Given the description of an element on the screen output the (x, y) to click on. 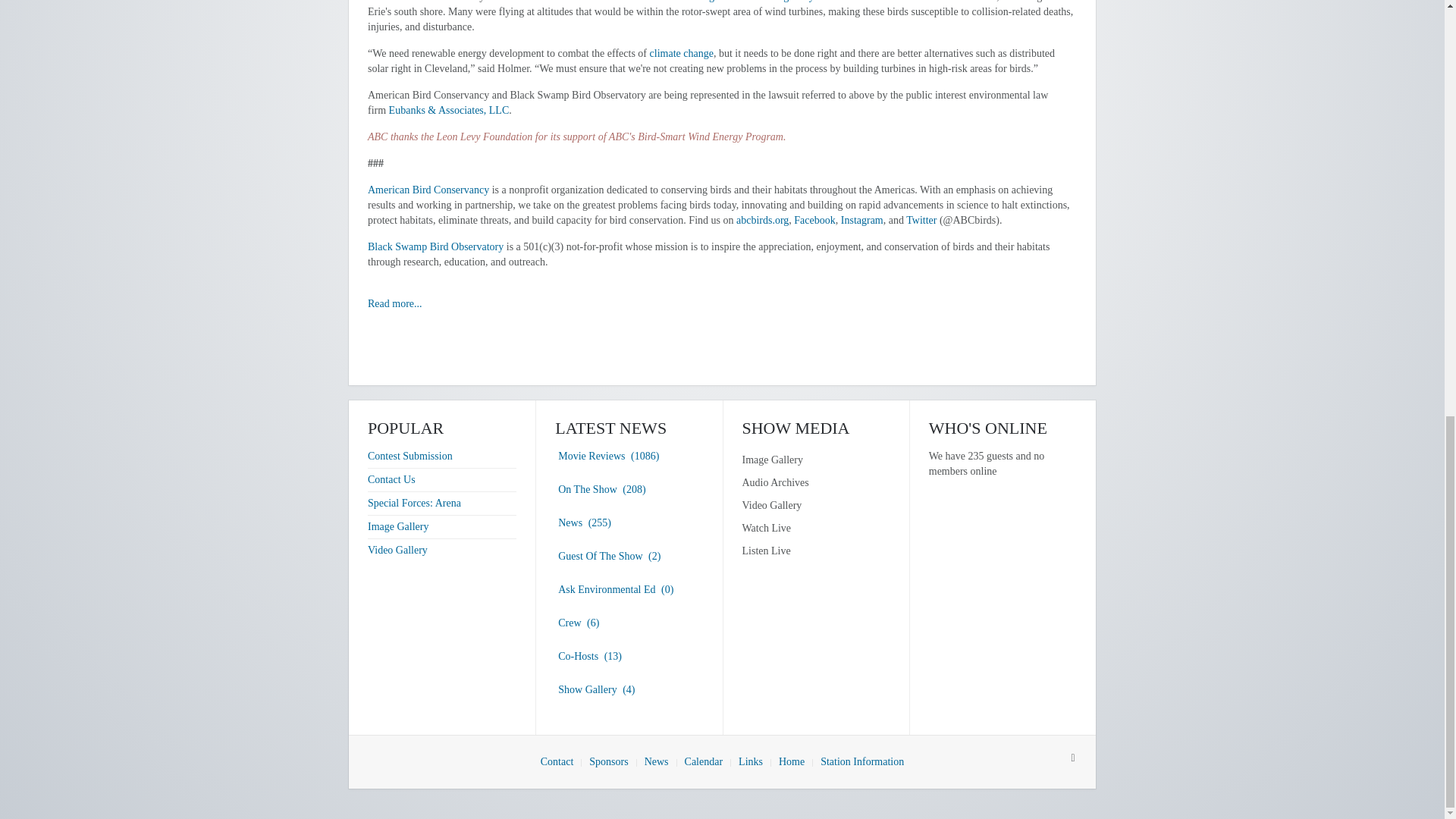
American Bird Conservancy (428, 189)
climate change (681, 52)
